Given the description of an element on the screen output the (x, y) to click on. 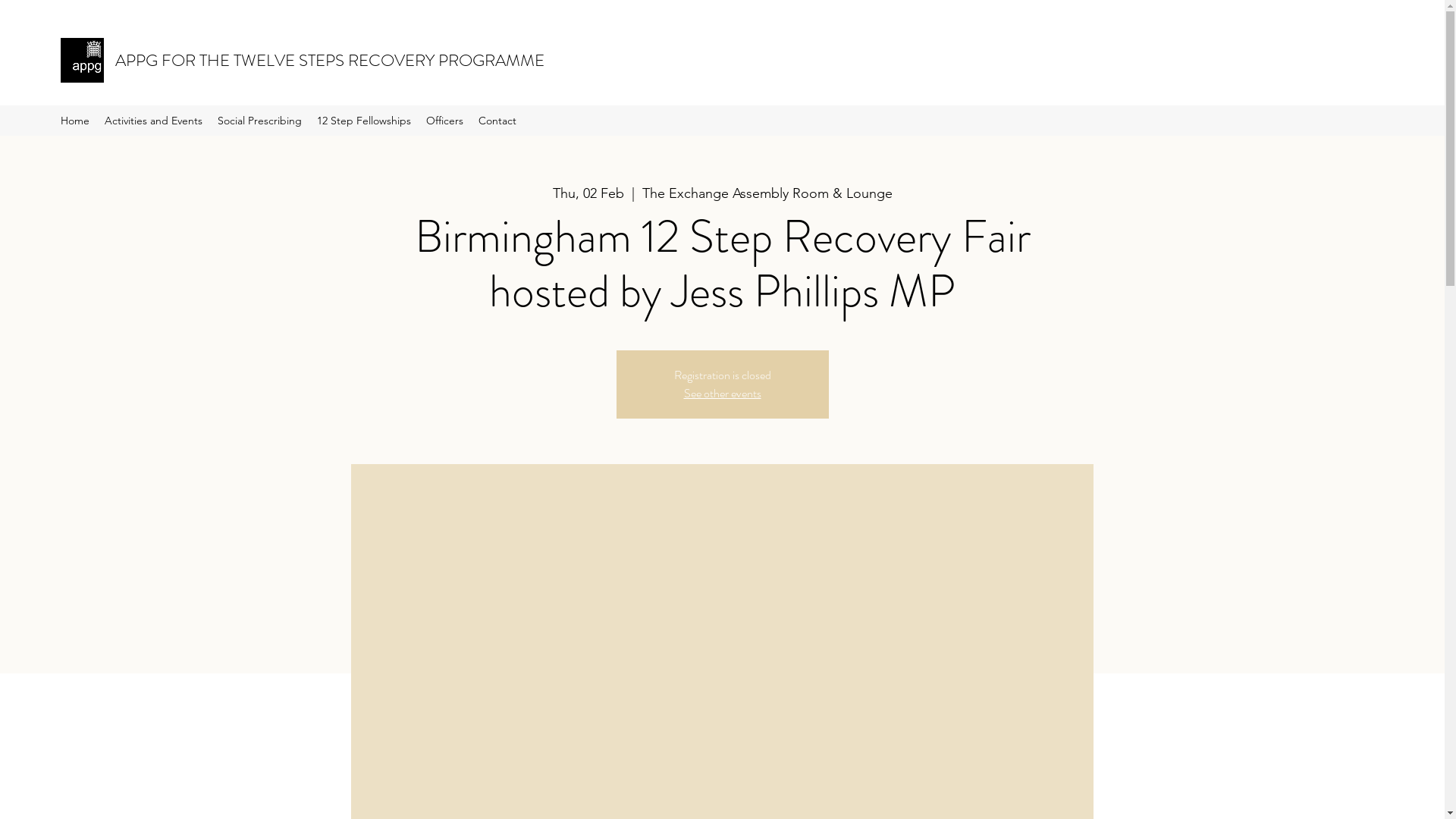
Social Prescribing Element type: text (259, 120)
Home Element type: text (75, 120)
Contact Element type: text (497, 120)
See other events Element type: text (722, 392)
Officers Element type: text (444, 120)
12 Step Fellowships Element type: text (363, 120)
Activities and Events Element type: text (153, 120)
